Given the description of an element on the screen output the (x, y) to click on. 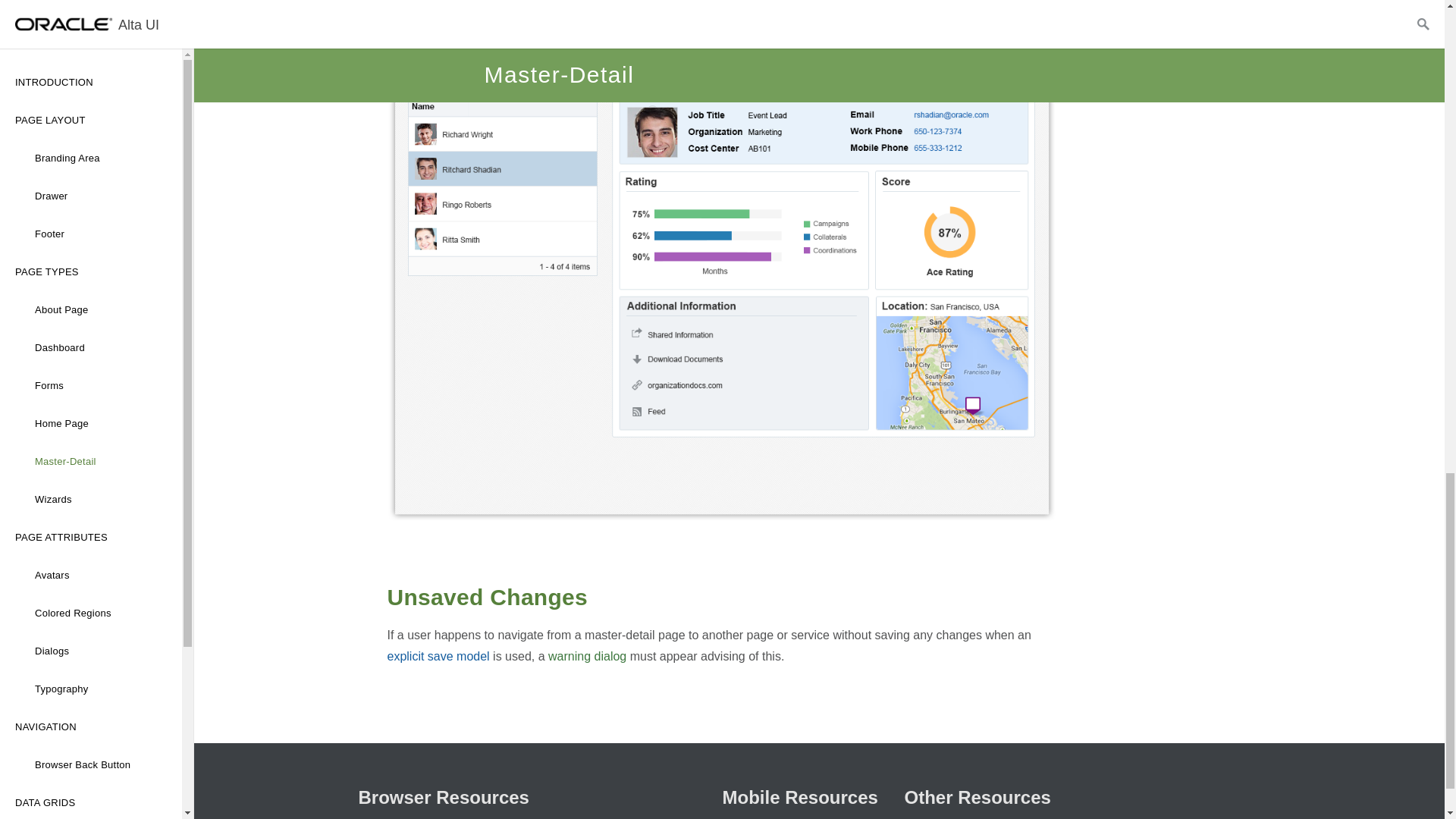
explicit save model (438, 656)
